Given the description of an element on the screen output the (x, y) to click on. 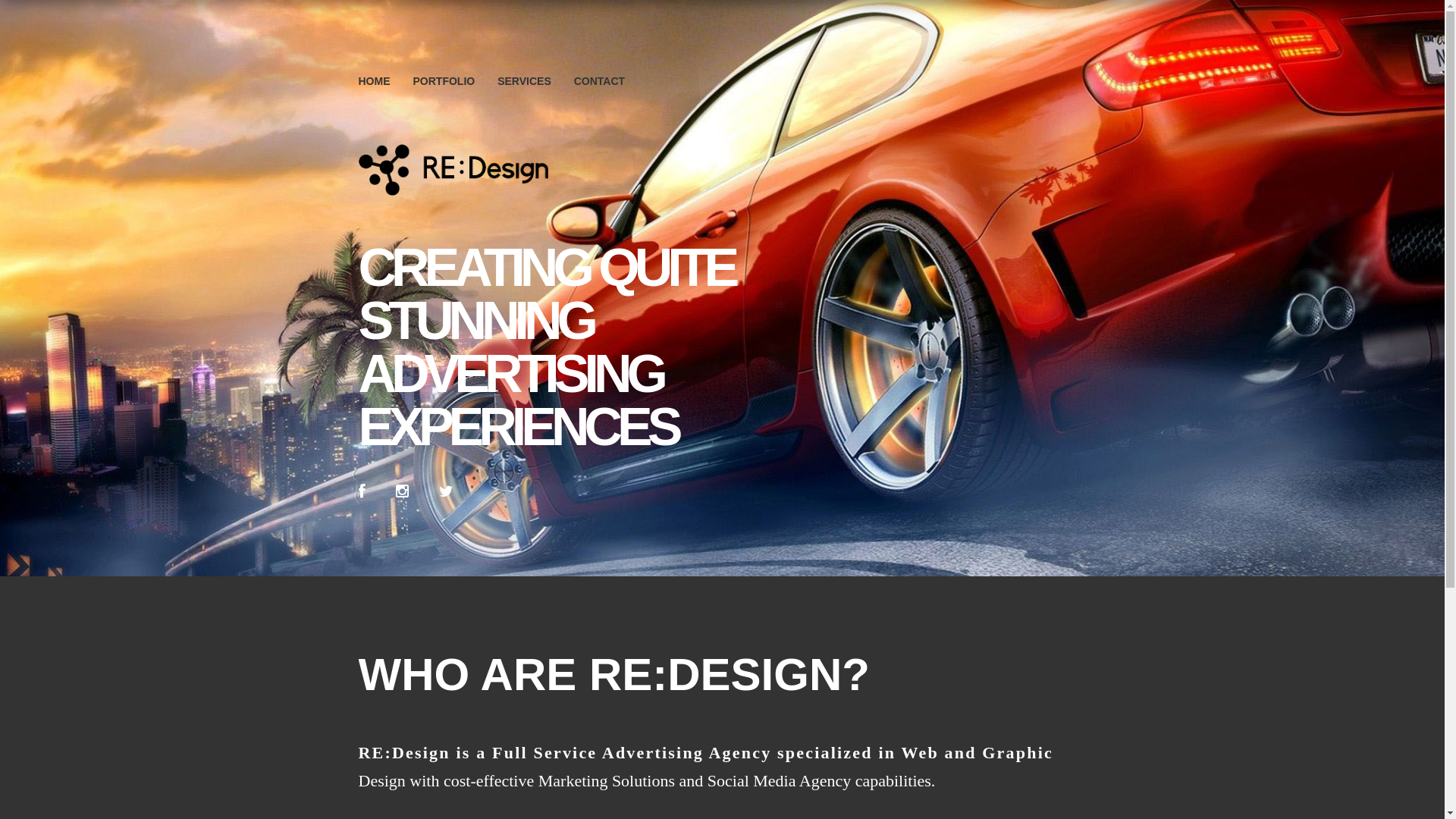
SERVICES Element type: text (527, 81)
PORTFOLIO Element type: text (447, 81)
CONTACT Element type: text (603, 81)
HOME Element type: text (377, 81)
